Given the description of an element on the screen output the (x, y) to click on. 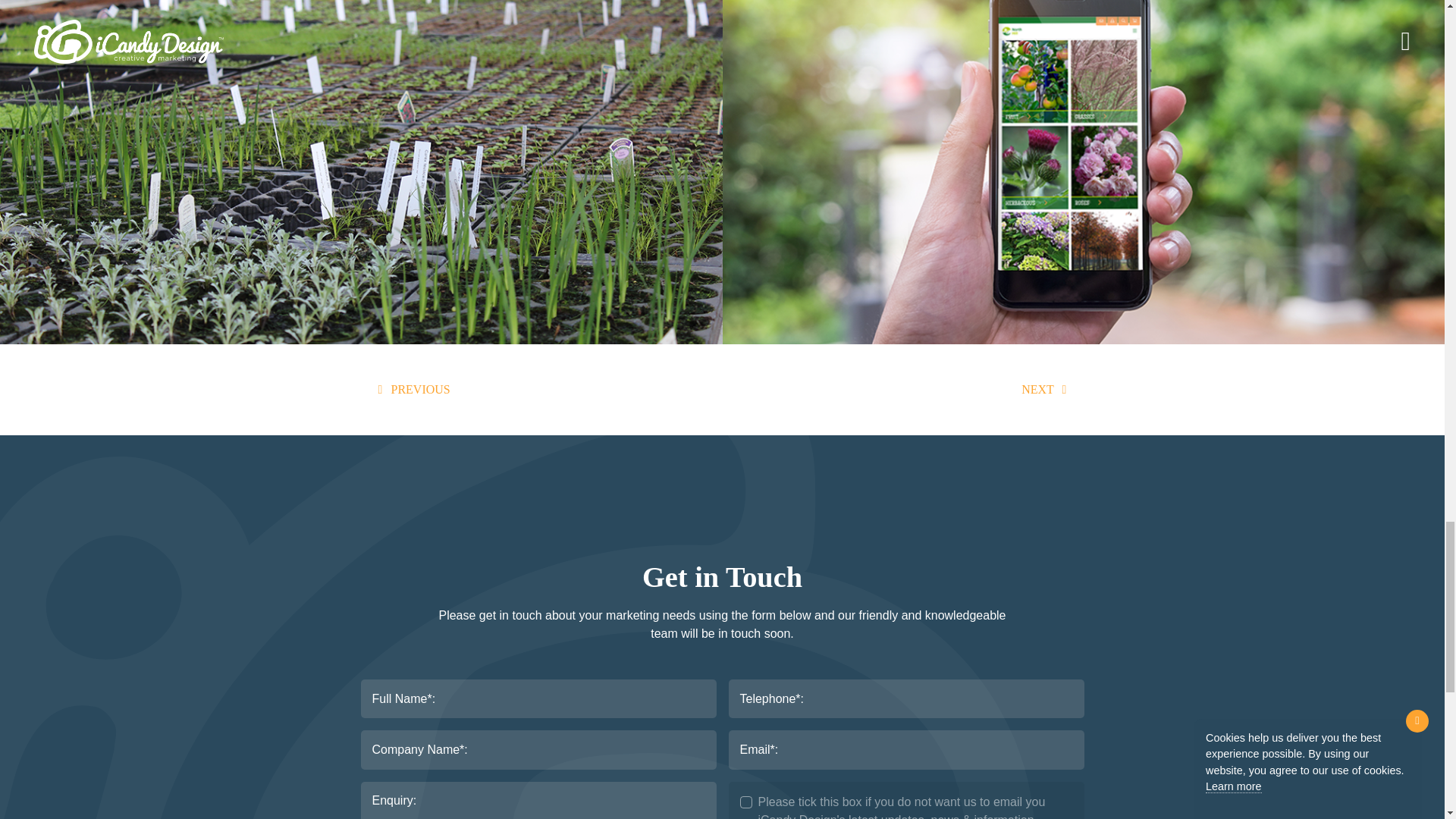
NEXT (1046, 389)
on (745, 802)
PREVIOUS (410, 389)
